Given the description of an element on the screen output the (x, y) to click on. 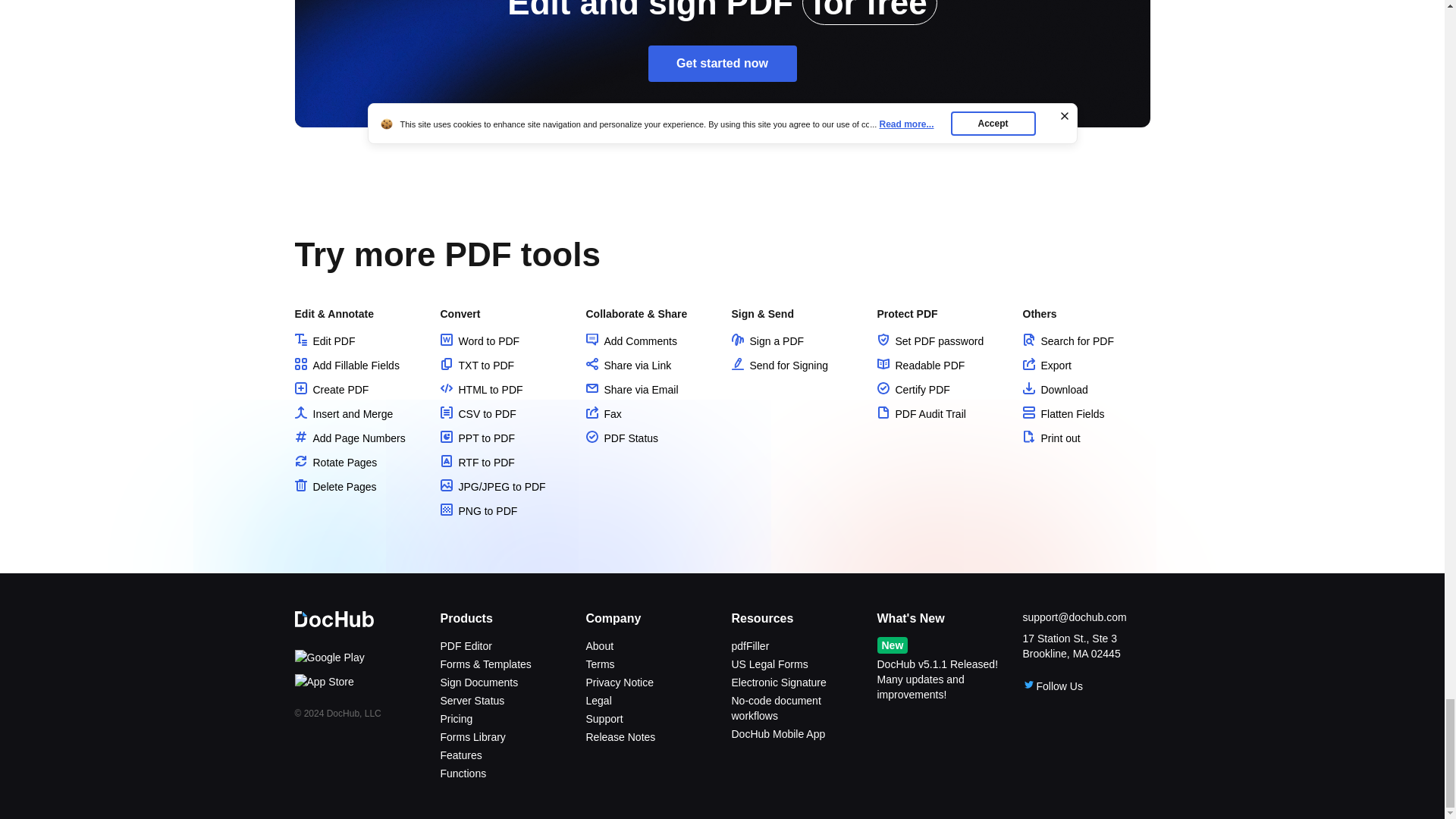
Insert and Merge (343, 413)
Share via Link (628, 365)
Share via Email (631, 389)
Fax (603, 413)
Add Comments (631, 340)
Add Fillable Fields (346, 365)
HTML to PDF (480, 389)
Create PDF (331, 389)
Add Page Numbers (349, 438)
CSV to PDF (477, 413)
Word to PDF (479, 340)
Delete Pages (334, 486)
Edit PDF (324, 340)
Rotate Pages (335, 462)
RTF to PDF (476, 462)
